Given the description of an element on the screen output the (x, y) to click on. 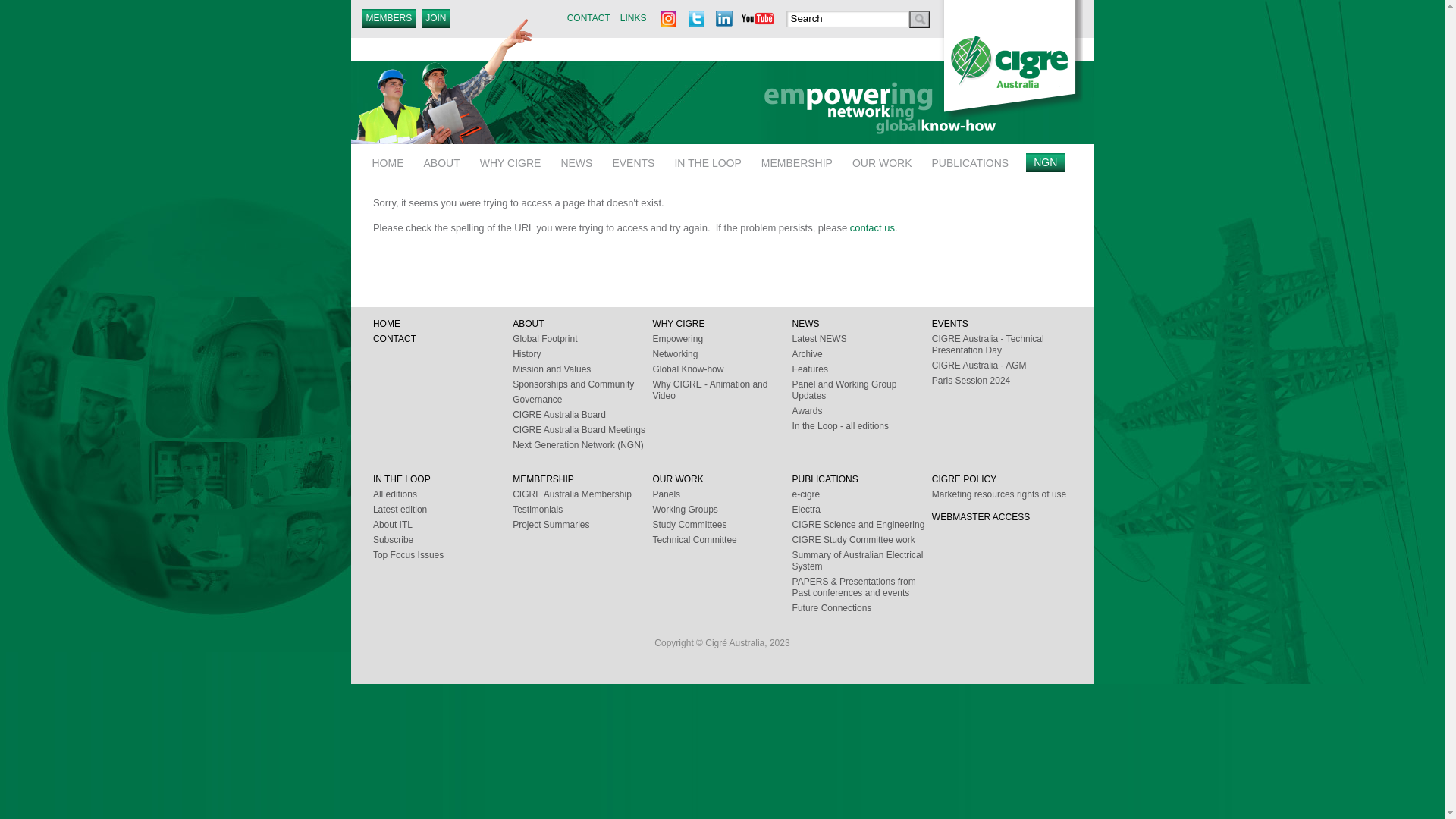
Subscribe Element type: text (442, 540)
CIGRE Australia Membership Element type: text (582, 494)
Panels Element type: text (721, 494)
CIGRE Australia Board Element type: text (582, 414)
CIGRE Australia - Technical Presentation Day Element type: text (1001, 344)
MEMBERSHIP Element type: text (582, 479)
Summary of Australian Electrical System Element type: text (861, 560)
Awards Element type: text (861, 411)
Future Connections Element type: text (861, 608)
Technical Committee Element type: text (721, 540)
Mission and Values Element type: text (582, 369)
Testimonials Element type: text (582, 509)
HOME Element type: text (442, 323)
NGN Element type: text (1045, 162)
Why CIGRE - Animation and Video Element type: text (721, 390)
History Element type: text (582, 354)
All editions Element type: text (442, 494)
WEBMASTER ACCESS Element type: text (1001, 517)
PUBLICATIONS Element type: text (970, 160)
WHY CIGRE Element type: text (510, 160)
IN THE LOOP Element type: text (442, 479)
contact us Element type: text (872, 227)
Global Footprint Element type: text (582, 339)
Next Generation Network (NGN) Element type: text (582, 445)
PAPERS & Presentations from Past conferences and events Element type: text (861, 587)
Latest NEWS Element type: text (861, 339)
Sponsorships and Community Element type: text (582, 384)
Top Focus Issues Element type: text (442, 555)
Electra Element type: text (861, 509)
CIGRE Science and Engineering Element type: text (861, 524)
CONTACT Element type: text (588, 18)
Empowering Element type: text (721, 339)
Project Summaries Element type: text (582, 524)
CONTACT Element type: text (442, 339)
Study Committees Element type: text (721, 524)
Networking Element type: text (721, 354)
EVENTS Element type: text (1001, 323)
OUR WORK Element type: text (721, 479)
About ITL Element type: text (442, 524)
Paris Session 2024 Element type: text (1001, 380)
NEWS Element type: text (861, 323)
CIGRE Study Committee work Element type: text (861, 540)
e-cigre Element type: text (861, 494)
HOME Element type: text (388, 160)
ABOUT Element type: text (582, 323)
WHY CIGRE Element type: text (721, 323)
NEWS Element type: text (576, 160)
MEMBERSHIP Element type: text (796, 160)
Panel and Working Group Updates Element type: text (861, 390)
Global Know-how Element type: text (721, 369)
MEMBERS Element type: text (389, 18)
ABOUT Element type: text (442, 160)
Marketing resources rights of use Element type: text (1001, 494)
Governance Element type: text (582, 399)
Features Element type: text (861, 369)
LINKS Element type: text (631, 18)
Vimeo Element type: text (757, 18)
JOIN Element type: text (435, 18)
CIGRE POLICY Element type: text (1001, 479)
Archive Element type: text (861, 354)
CIGRE Australia Board Meetings Element type: text (582, 430)
Working Groups Element type: text (721, 509)
LinkedIn Element type: text (722, 18)
Latest edition Element type: text (442, 509)
IN THE LOOP Element type: text (707, 160)
EVENTS Element type: text (633, 160)
Go Element type: text (918, 19)
PUBLICATIONS Element type: text (861, 479)
CIGRE Australia - AGM Element type: text (1001, 365)
In the Loop - all editions Element type: text (861, 426)
OUR WORK Element type: text (882, 160)
